Given the description of an element on the screen output the (x, y) to click on. 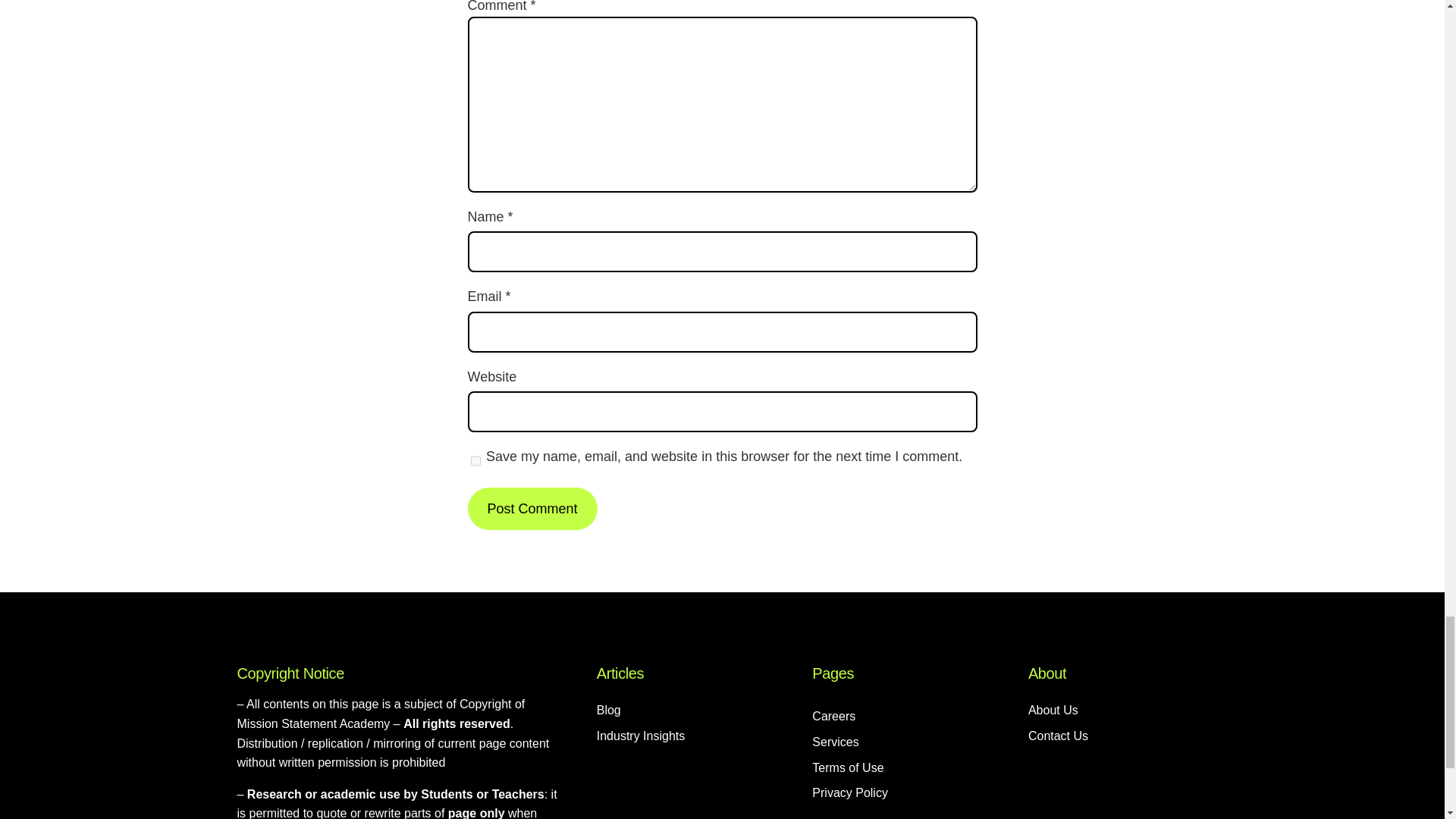
Post Comment (531, 508)
Blog (608, 710)
Industry Insights (640, 736)
Post Comment (531, 508)
Privacy Policy (850, 792)
About Us (1052, 710)
Terms of Use (847, 768)
Contact Us (1057, 736)
Careers (834, 716)
Services (835, 742)
